Given the description of an element on the screen output the (x, y) to click on. 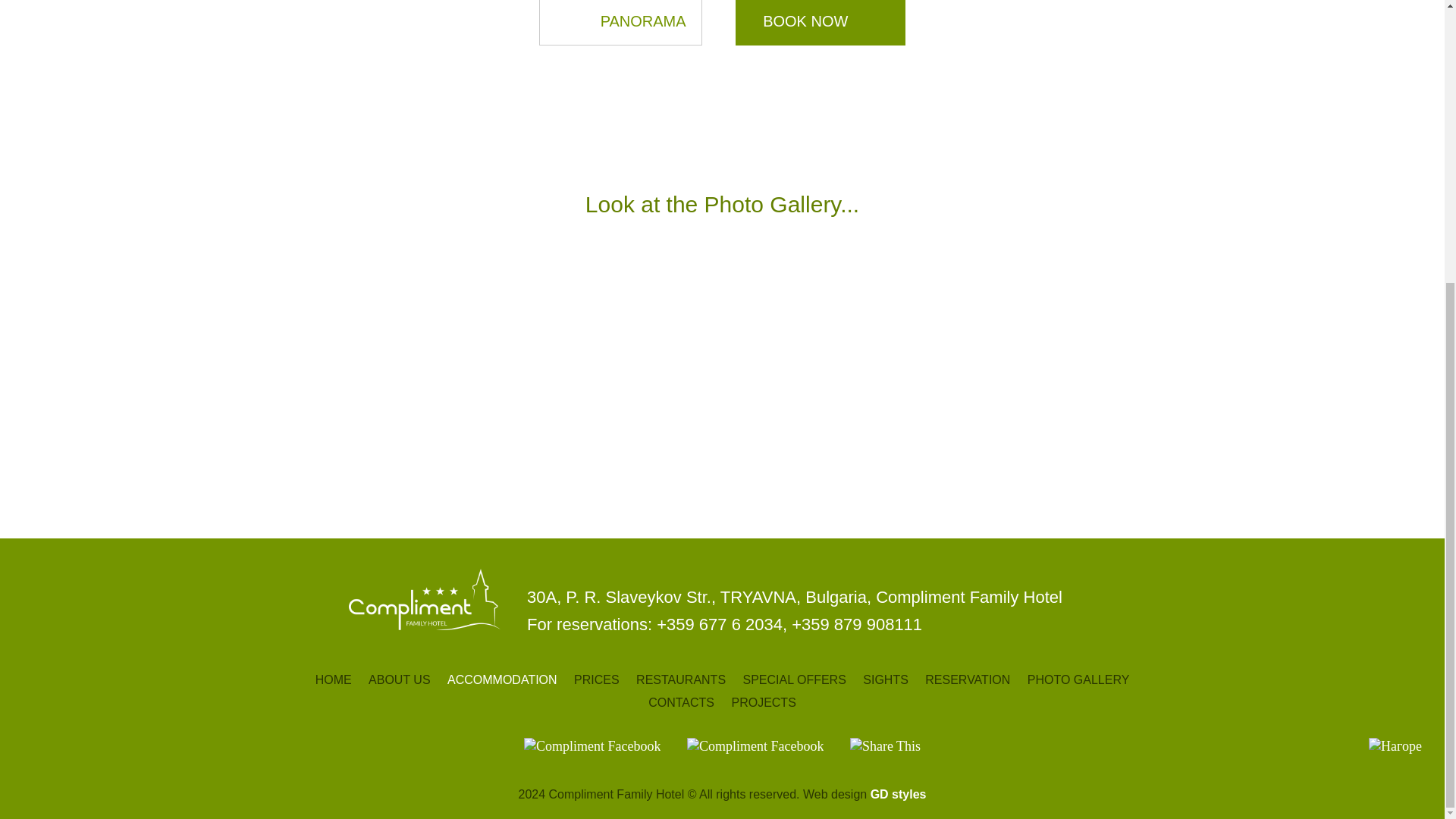
TITLE (885, 744)
BOOK NOW (820, 22)
PANORAMA (619, 22)
